Given the description of an element on the screen output the (x, y) to click on. 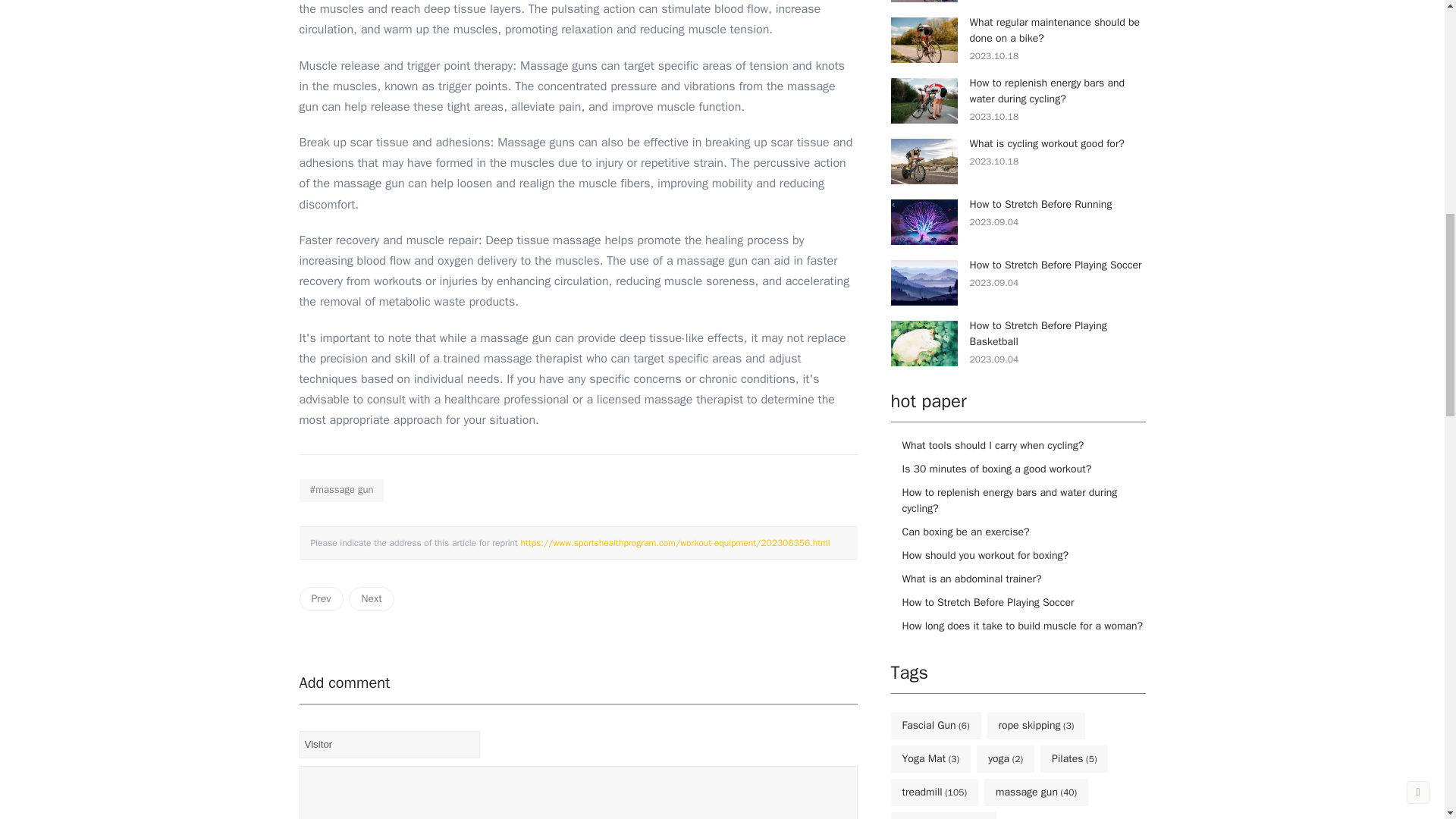
Prev (320, 598)
massage gun (341, 490)
Next (371, 598)
Visitor (389, 744)
Can adjustable dumbbells be used for full-body workouts? (320, 598)
What regular maintenance should be done on a bike? (1054, 30)
massage gun (341, 490)
Can a massage gun help with deep tissue massage? (674, 542)
